Given the description of an element on the screen output the (x, y) to click on. 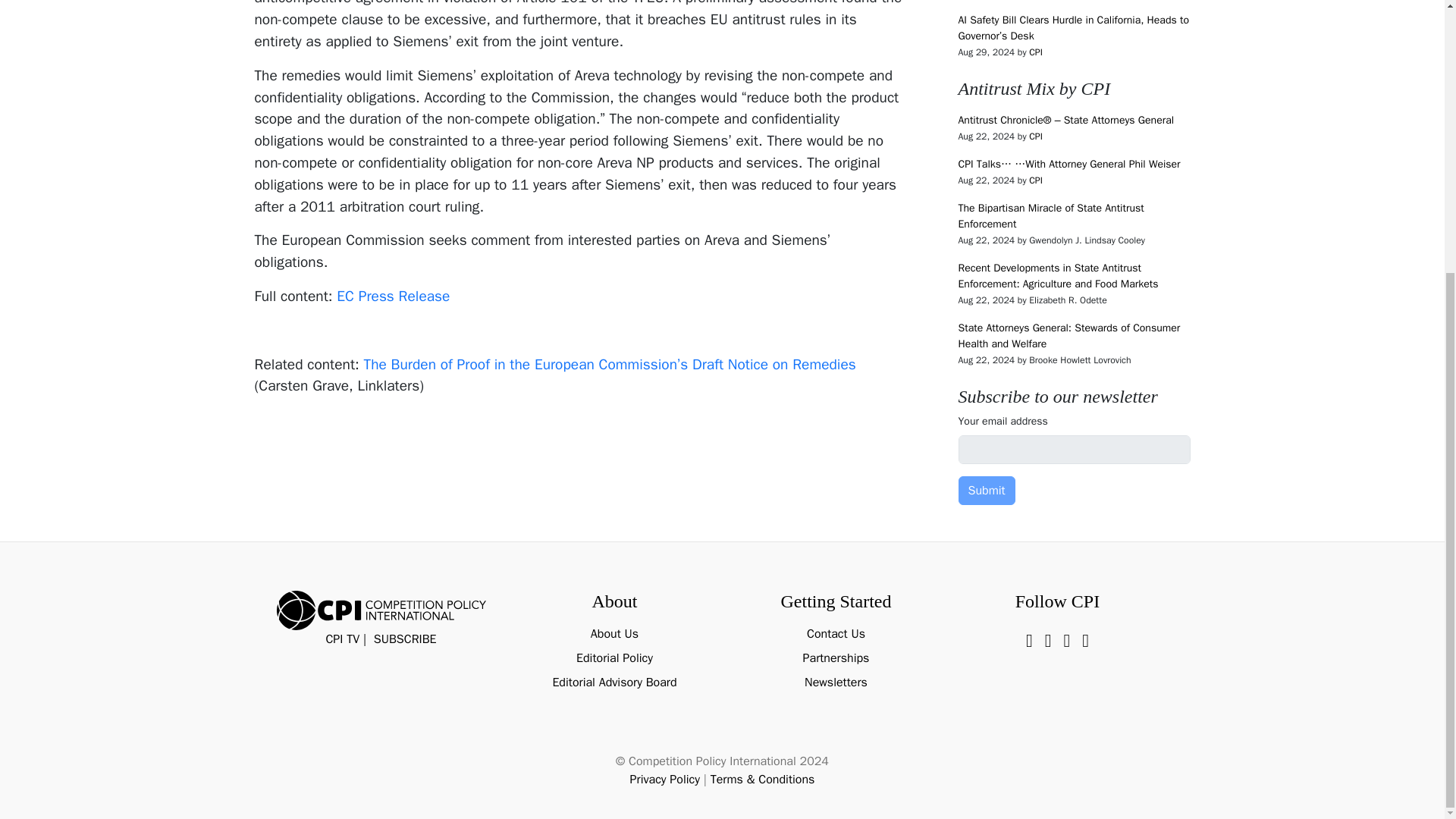
EC Press Release (392, 296)
The Bipartisan Miracle of State Antitrust Enforcement (1051, 215)
CPI (1035, 180)
Posts by CPI (1035, 136)
Posts by CPI (1035, 51)
CPI (1035, 51)
CPI (1035, 136)
